Given the description of an element on the screen output the (x, y) to click on. 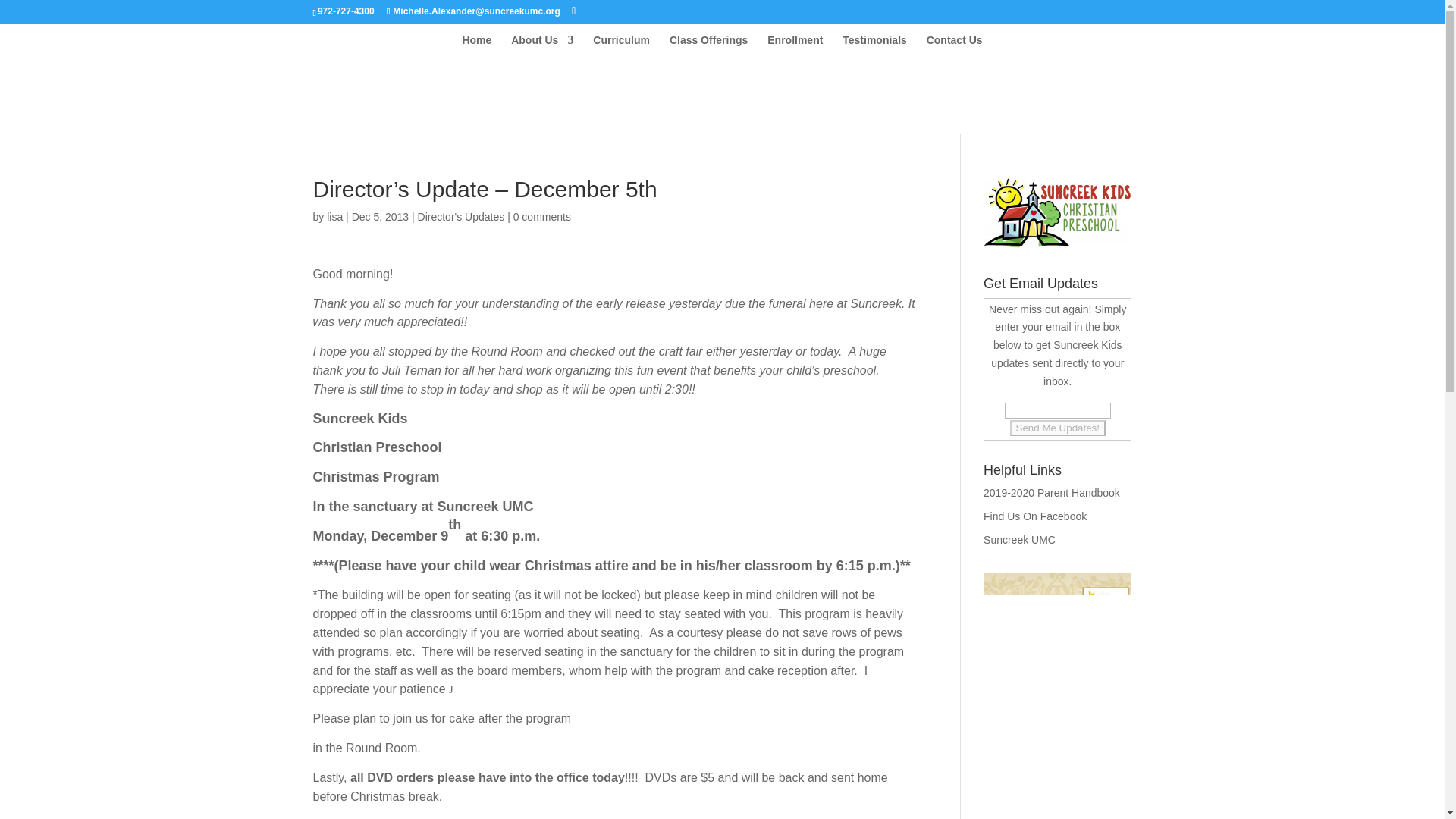
0 comments (541, 216)
Contact Us (954, 50)
Testimonials (875, 50)
lisa (334, 216)
Send Me Updates! (1057, 427)
Posts by lisa (334, 216)
Home (476, 50)
About Us (542, 50)
Suncreek UMC (1019, 539)
Curriculum (620, 50)
